Given the description of an element on the screen output the (x, y) to click on. 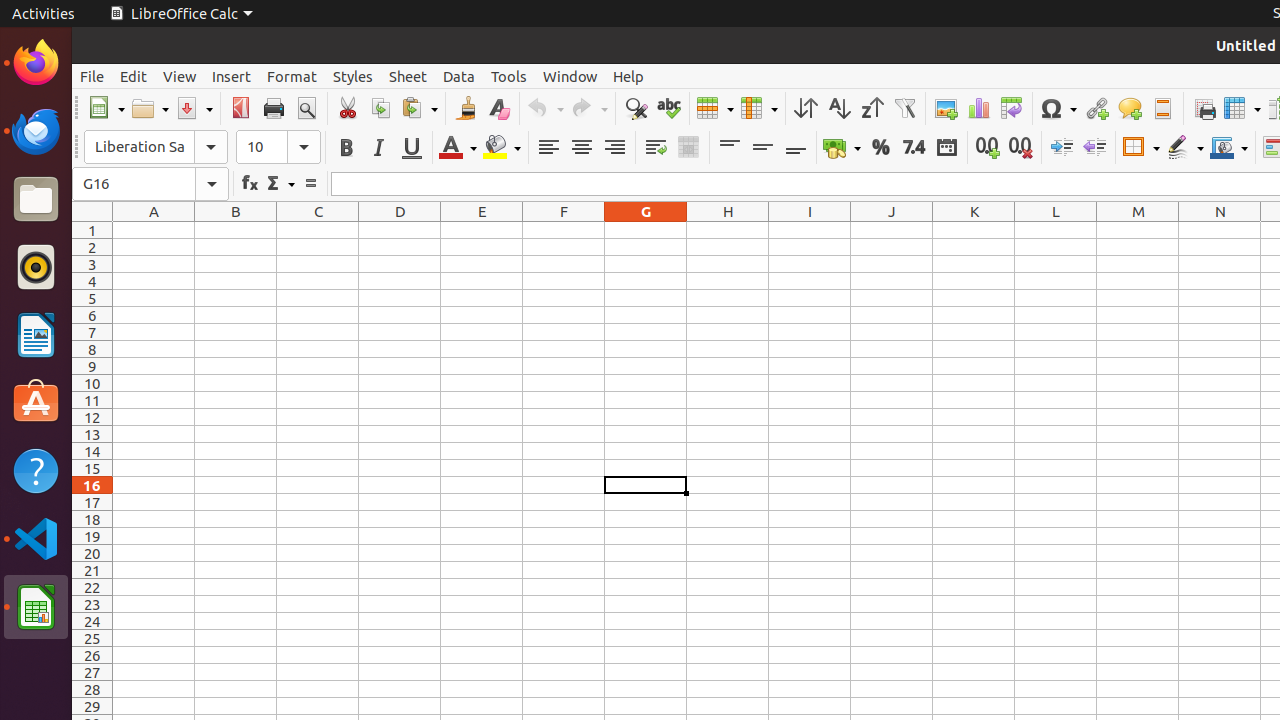
Italic Element type: toggle-button (378, 147)
Data Element type: menu (459, 76)
Window Element type: menu (570, 76)
Hyperlink Element type: toggle-button (1096, 108)
Border Style Element type: push-button (1185, 147)
